Given the description of an element on the screen output the (x, y) to click on. 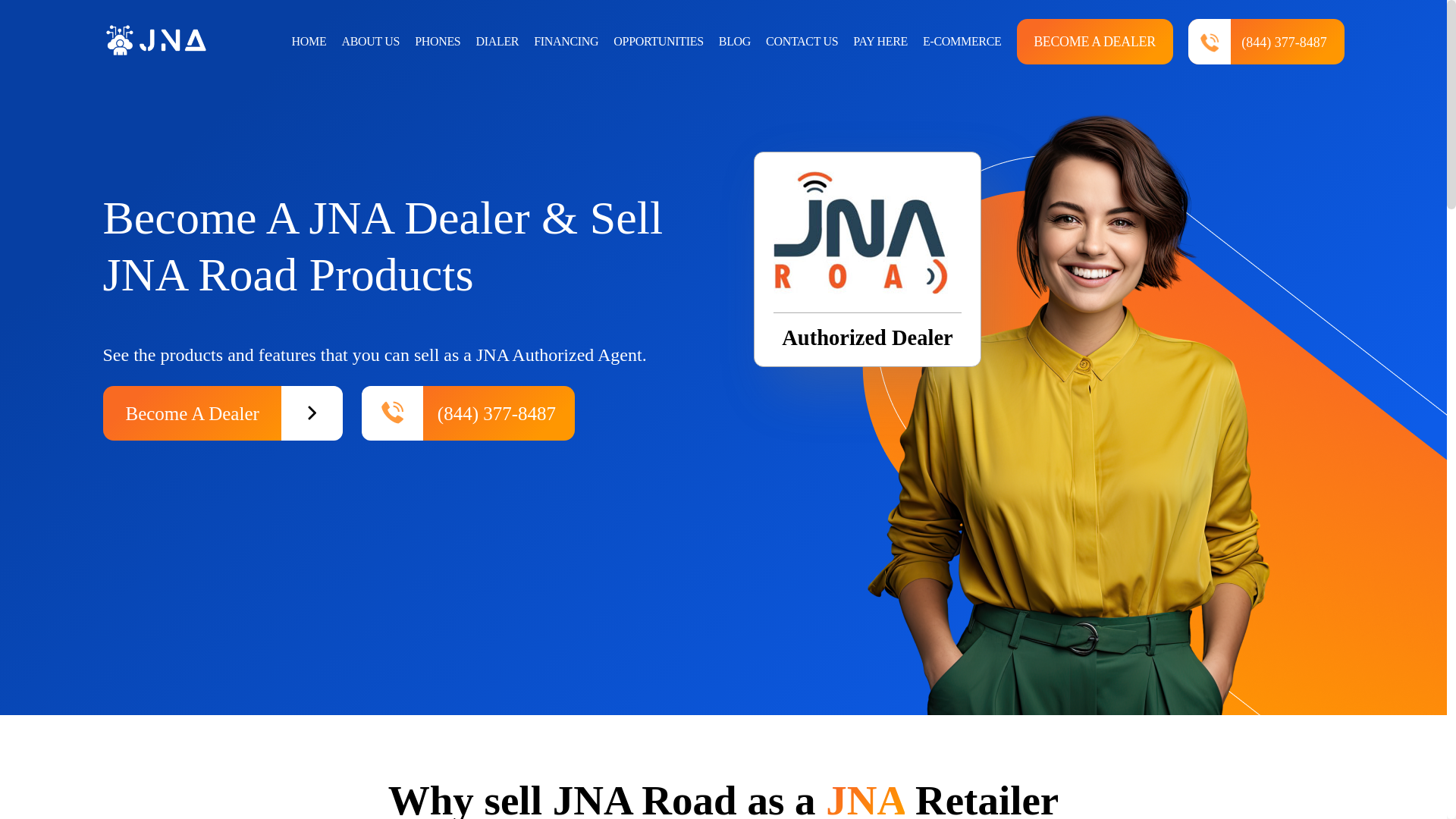
DIALER (497, 41)
BLOG (735, 41)
ABOUT US (369, 41)
Become A Dealer (222, 412)
E-COMMERCE (962, 41)
CONTACT US (801, 41)
BECOME A DEALER (1094, 41)
FINANCING (566, 41)
HOME (309, 41)
PHONES (437, 41)
PAY HERE (880, 41)
OPPORTUNITIES (657, 41)
